Given the description of an element on the screen output the (x, y) to click on. 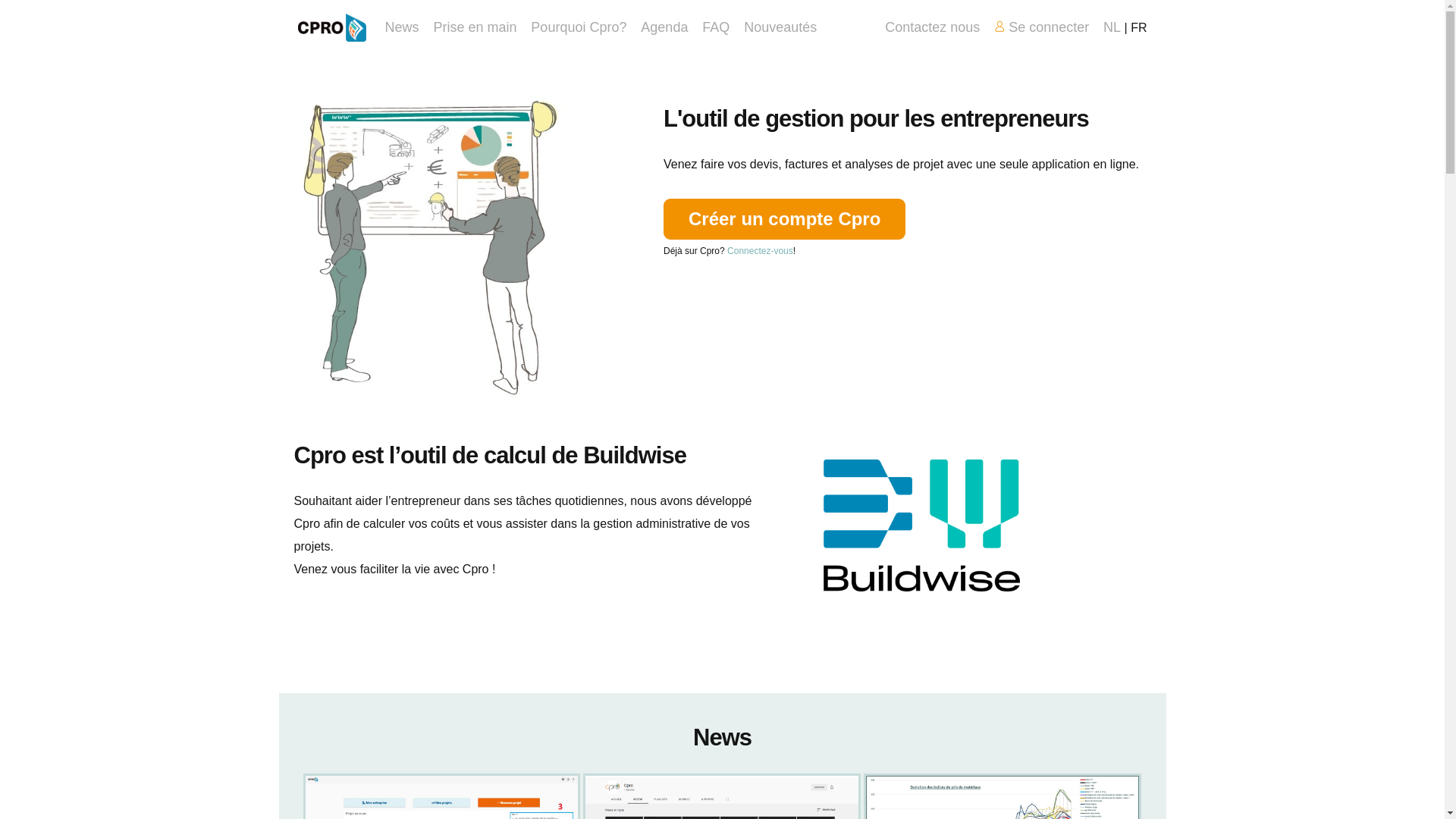
News Element type: text (402, 27)
Prise en main Element type: text (474, 27)
Connectez-vous Element type: text (760, 250)
NL Element type: text (1111, 26)
Contactez nous Element type: text (931, 27)
Se connecter Element type: text (1041, 27)
FAQ Element type: text (715, 27)
Agenda Element type: text (663, 27)
Pourquoi Cpro? Element type: text (578, 27)
Home Element type: text (331, 27)
